Given the description of an element on the screen output the (x, y) to click on. 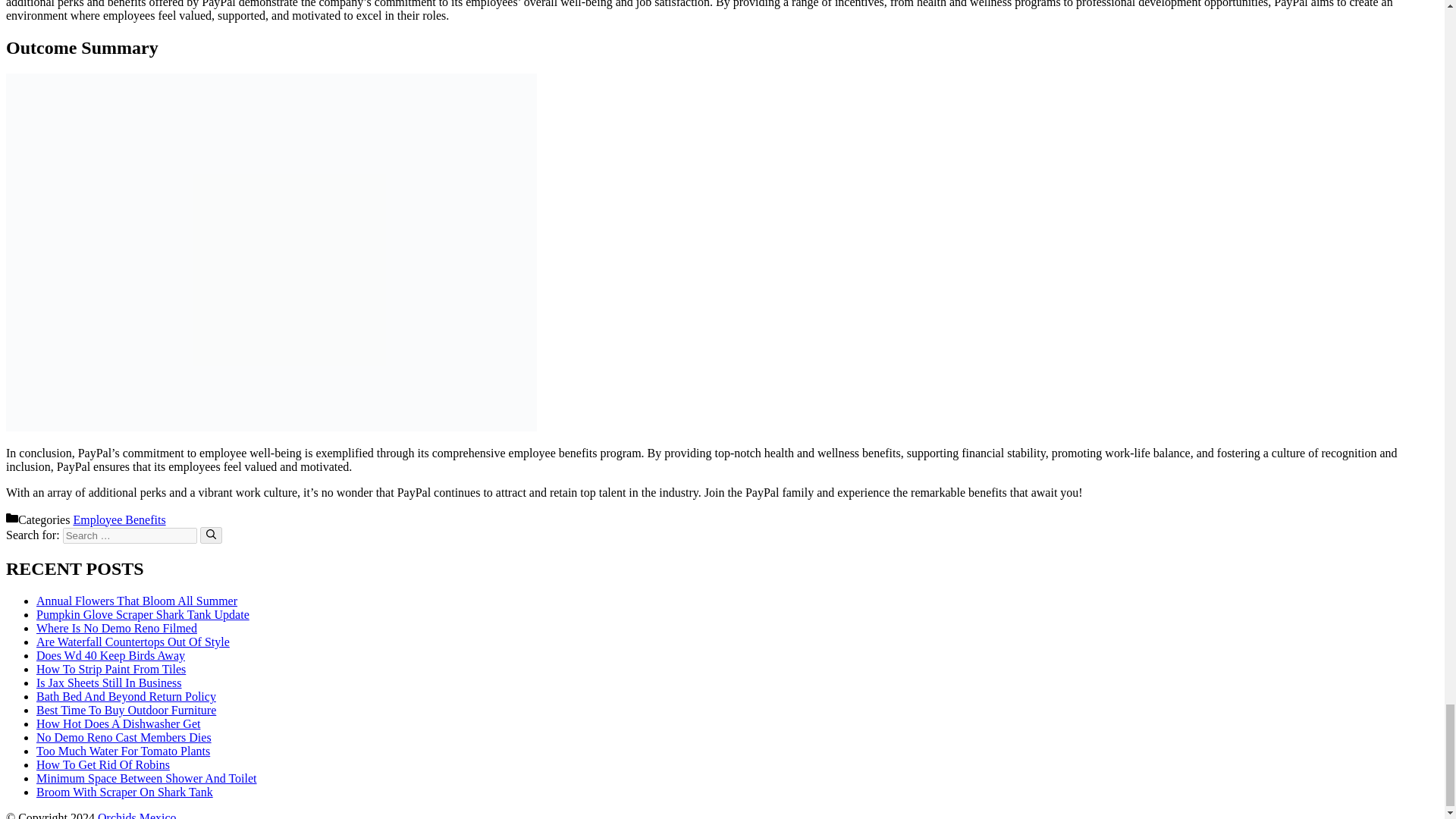
Bath Bed And Beyond Return Policy (125, 696)
How To Strip Paint From Tiles (111, 668)
Where Is No Demo Reno Filmed (116, 627)
Best Time To Buy Outdoor Furniture (125, 709)
Annual Flowers That Bloom All Summer (136, 600)
No Demo Reno Cast Members Dies (123, 737)
How To Get Rid Of Robins (103, 764)
Too Much Water For Tomato Plants (122, 750)
Search for: (129, 535)
